Given the description of an element on the screen output the (x, y) to click on. 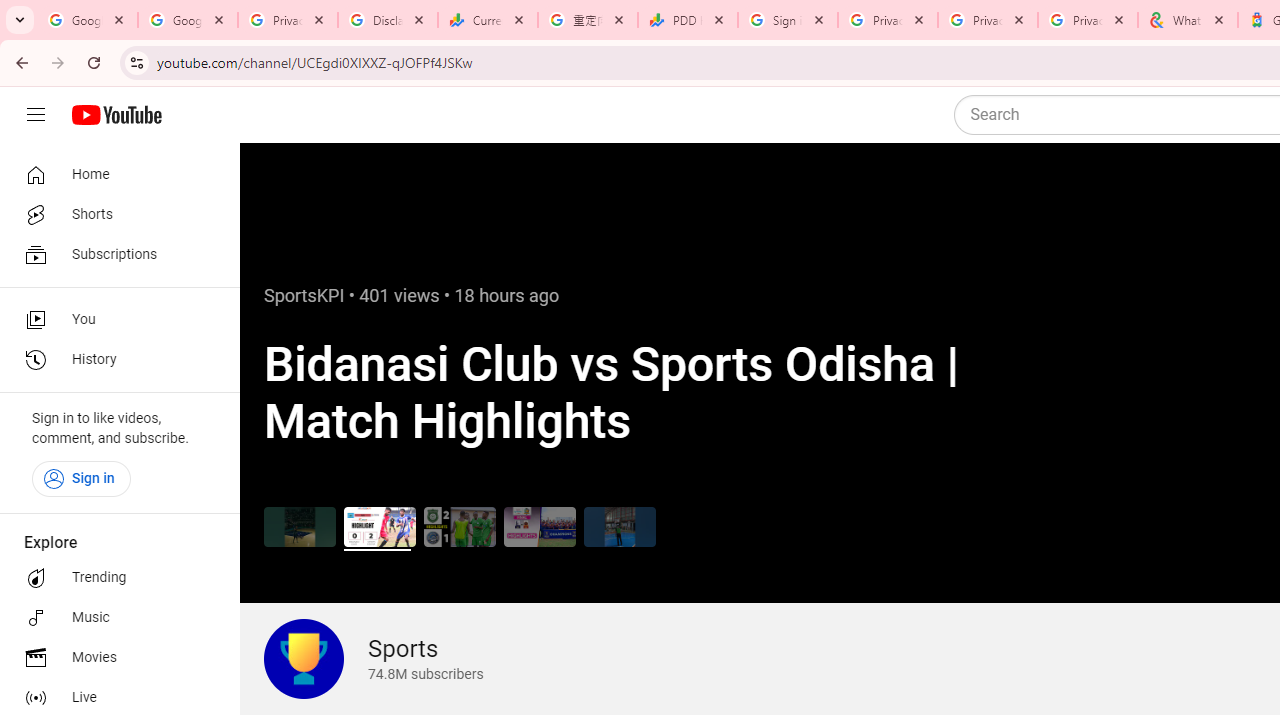
Home (113, 174)
Shorts (113, 214)
YouTube Home (116, 115)
Google Workspace Admin Community (87, 20)
Live (113, 697)
Sign in - Google Accounts (788, 20)
Bidanasi Club vs Sports Odisha | Match Highlights (380, 526)
